Given the description of an element on the screen output the (x, y) to click on. 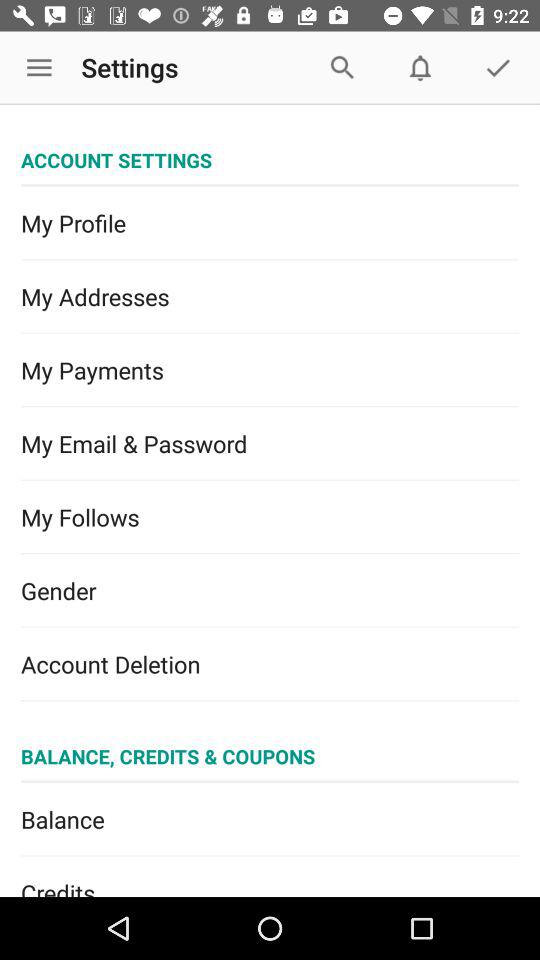
open the my payments (270, 370)
